Given the description of an element on the screen output the (x, y) to click on. 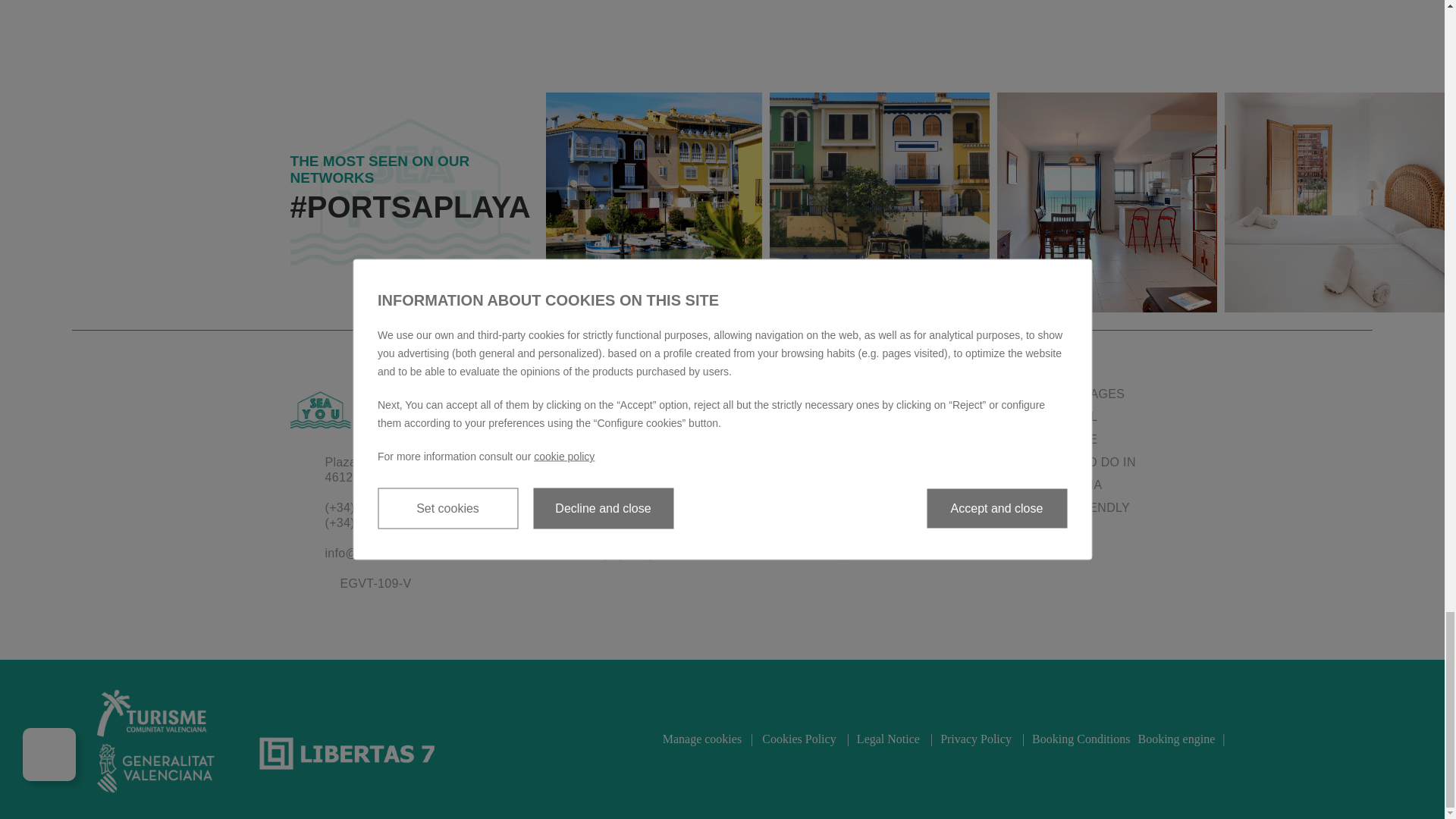
None (880, 202)
privacy (590, 520)
None (651, 202)
None (1107, 202)
privacy (590, 549)
